Given the description of an element on the screen output the (x, y) to click on. 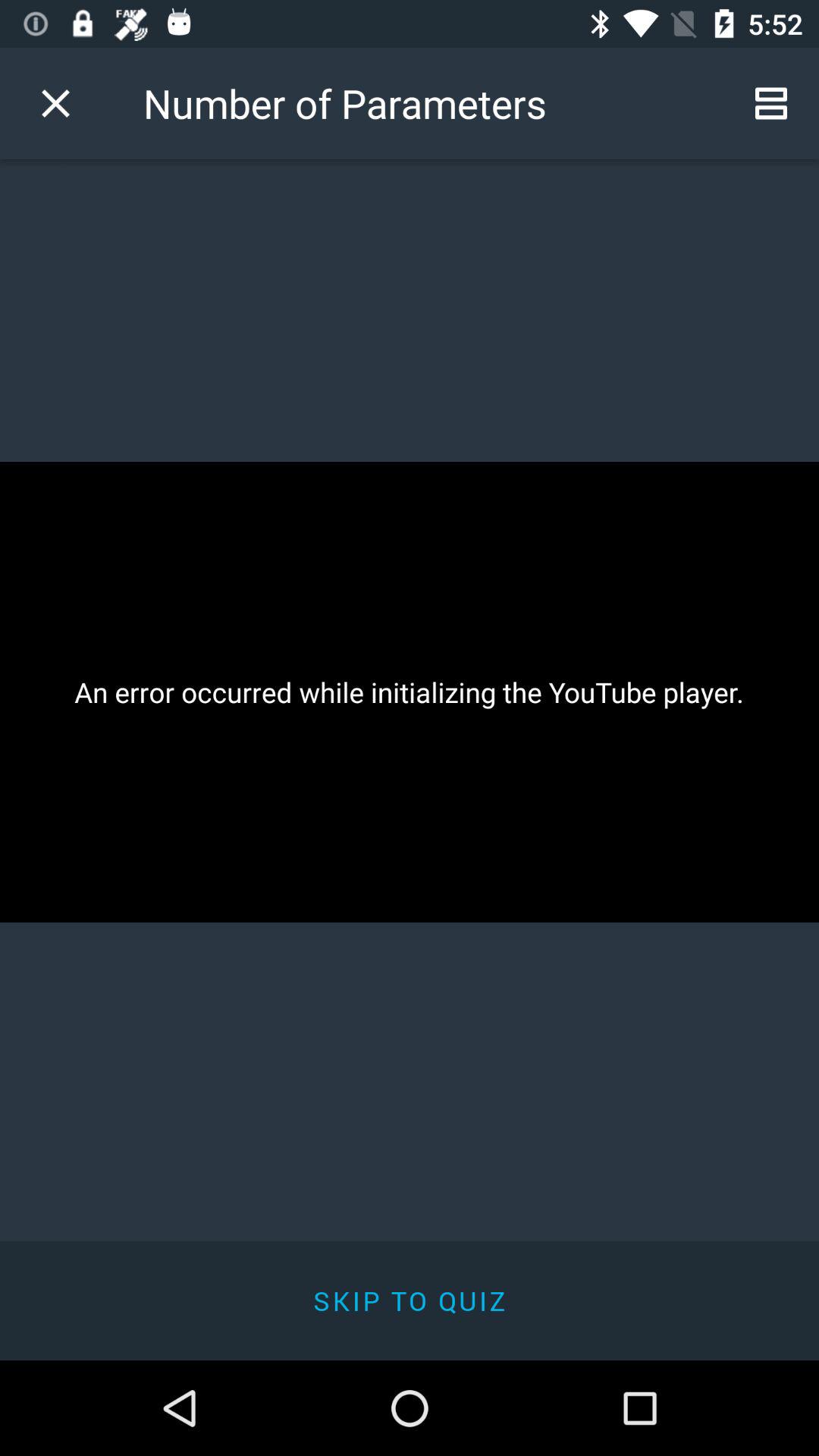
turn off icon to the left of number of parameters item (55, 103)
